Given the description of an element on the screen output the (x, y) to click on. 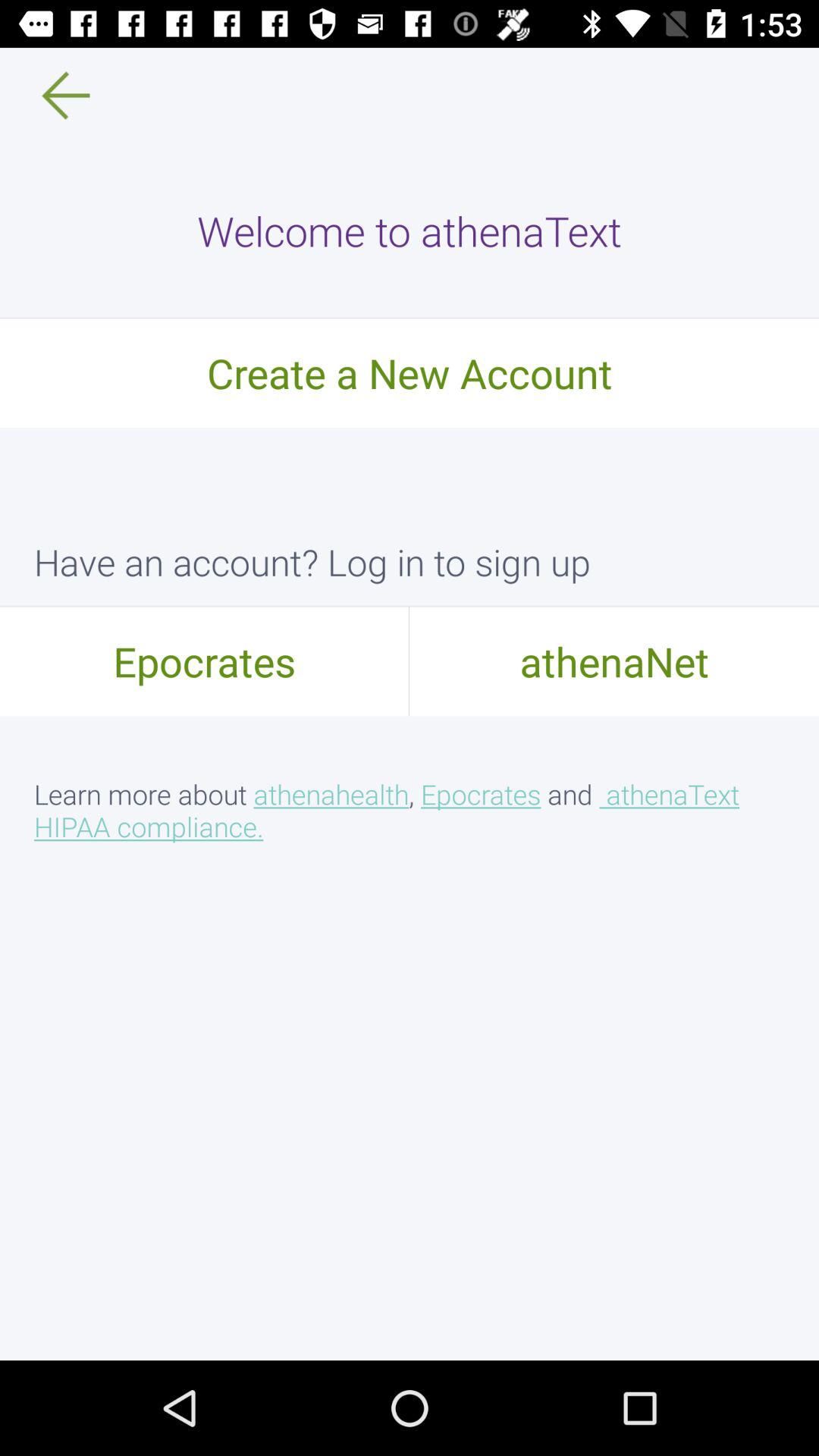
open athenanet on the right (614, 661)
